Given the description of an element on the screen output the (x, y) to click on. 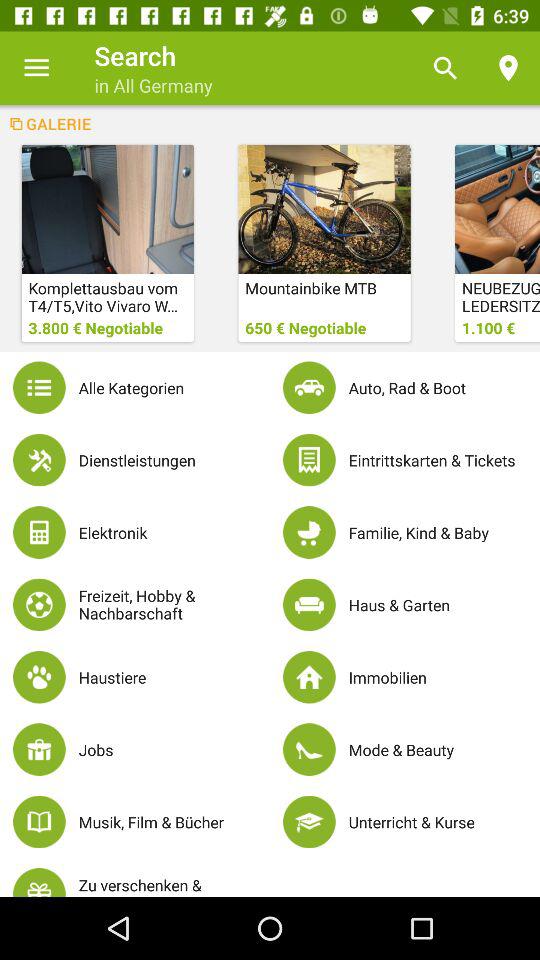
click item next to search (36, 68)
